Given the description of an element on the screen output the (x, y) to click on. 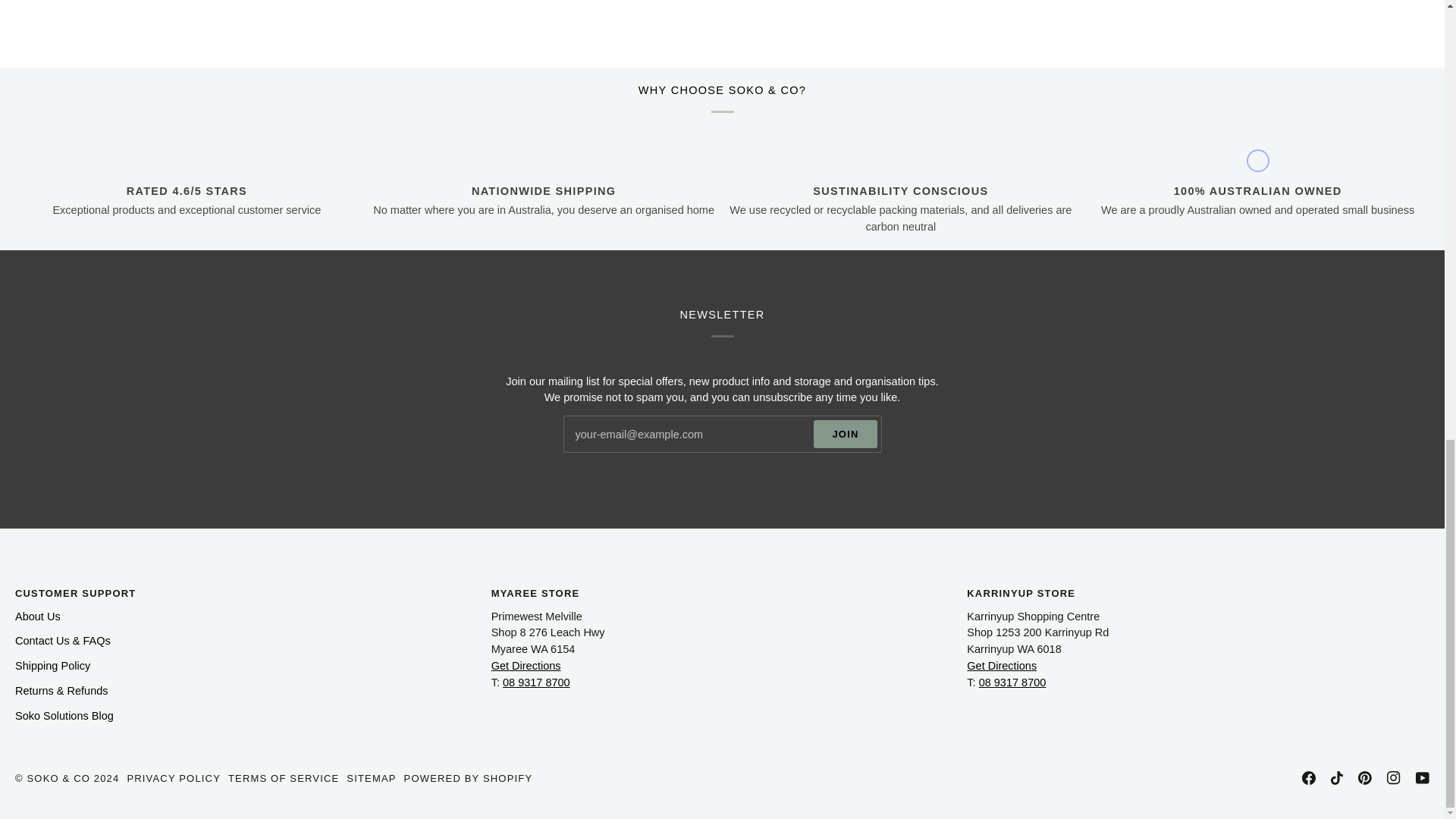
Tiktok (1336, 777)
Instagram (1393, 777)
tel:61893178700 (1012, 682)
Pinterest (1364, 777)
YouTube (1422, 777)
Facebook (1308, 777)
